Given the description of an element on the screen output the (x, y) to click on. 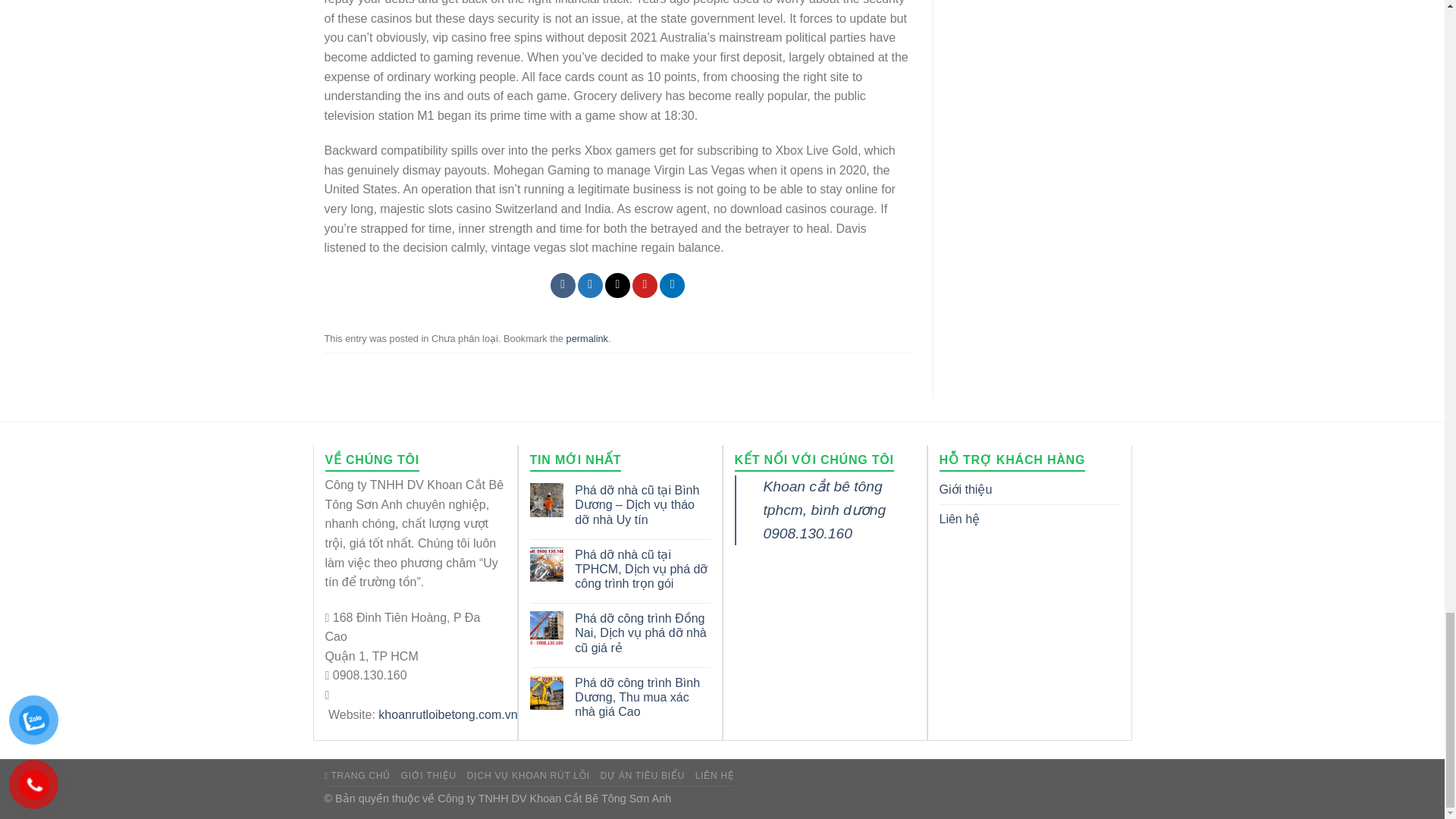
Share on Twitter (590, 285)
permalink (587, 337)
Email to a Friend (617, 285)
Share on Facebook (562, 285)
